Given the description of an element on the screen output the (x, y) to click on. 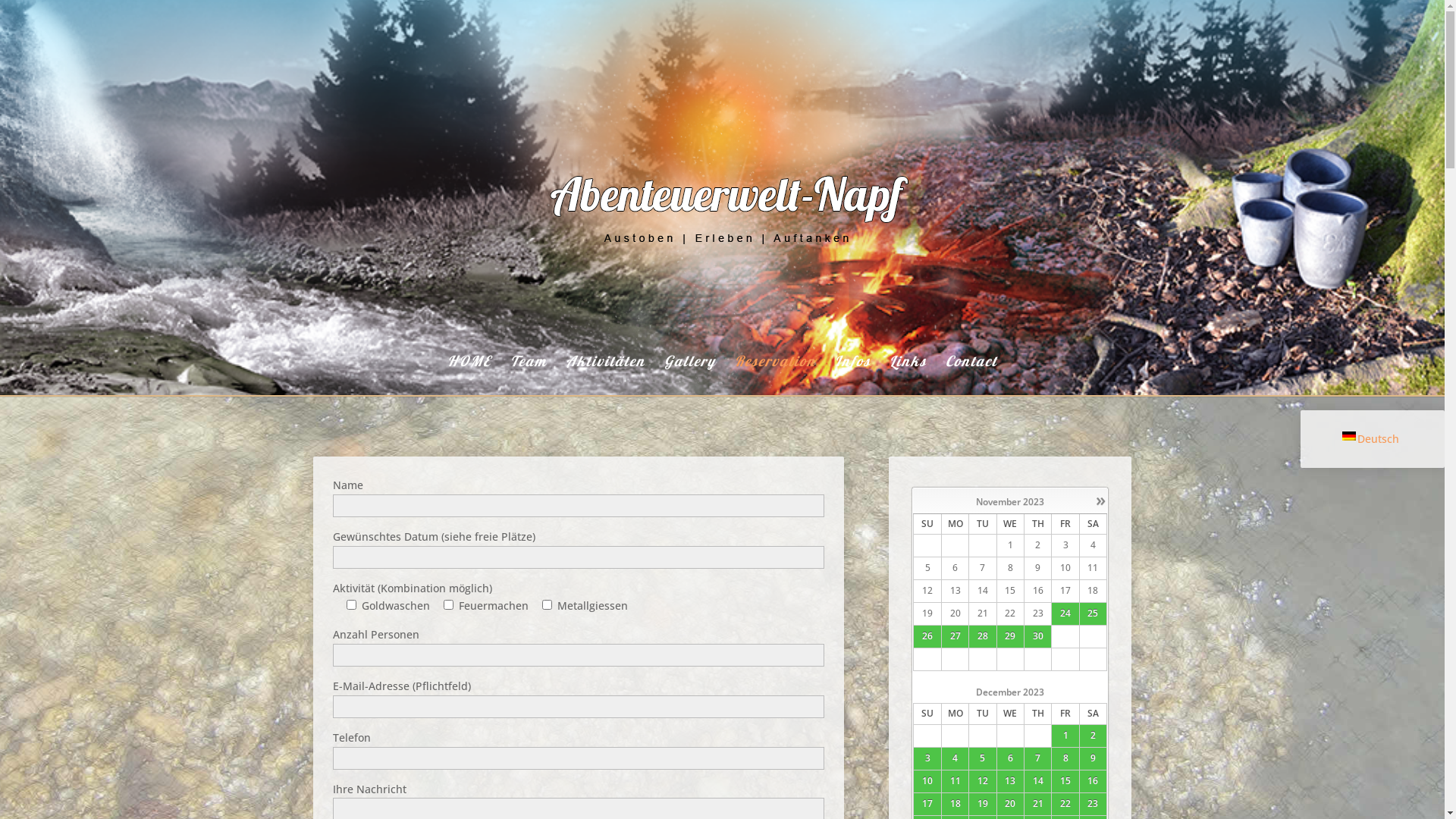
22 Element type: text (1065, 803)
10 Element type: text (927, 780)
27 Element type: text (954, 635)
28 Element type: text (982, 635)
Deutsch Element type: text (1370, 438)
19 Element type: text (982, 803)
3 Element type: text (927, 757)
2 Element type: text (1092, 734)
5 Element type: text (982, 757)
25 Element type: text (1092, 612)
16 Element type: text (1092, 780)
5 Element type: text (982, 757)
10 Element type: text (927, 780)
HOME Element type: text (469, 375)
12 Element type: text (982, 780)
12 Element type: text (982, 780)
14 Element type: text (1037, 780)
Gallery Element type: text (689, 375)
13 Element type: text (1009, 780)
8 Element type: text (1065, 757)
30 Element type: text (1037, 635)
25 Element type: text (1092, 613)
26 Element type: text (927, 635)
21 Element type: text (1037, 803)
23 Element type: text (1092, 803)
18 Element type: text (954, 803)
29 Element type: text (1009, 635)
15 Element type: text (1065, 780)
17 Element type: text (927, 803)
20 Element type: text (1009, 803)
9 Element type: text (1092, 757)
Infos Element type: text (852, 375)
6 Element type: text (1010, 757)
22 Element type: text (1065, 803)
28 Element type: text (982, 635)
6 Element type: text (1009, 757)
21 Element type: text (1037, 803)
Team Element type: text (528, 375)
23 Element type: text (1092, 803)
24 Element type: text (1065, 613)
17 Element type: text (927, 803)
18 Element type: text (954, 803)
8 Element type: text (1065, 757)
1 Element type: text (1065, 734)
24 Element type: text (1065, 612)
4 Element type: text (954, 757)
11 Element type: text (954, 780)
16 Element type: text (1092, 780)
30 Element type: text (1037, 635)
2 Element type: text (1092, 735)
11 Element type: text (954, 780)
4 Element type: text (954, 757)
15 Element type: text (1065, 780)
7 Element type: text (1037, 757)
27 Element type: text (954, 635)
Links Element type: text (907, 375)
7 Element type: text (1037, 757)
Reservation Element type: text (774, 375)
19 Element type: text (982, 803)
1 Element type: text (1065, 735)
Contact Element type: text (971, 375)
9 Element type: text (1092, 757)
26 Element type: text (927, 635)
3 Element type: text (927, 757)
20 Element type: text (1009, 803)
13 Element type: text (1009, 780)
14 Element type: text (1037, 780)
29 Element type: text (1009, 635)
